Given the description of an element on the screen output the (x, y) to click on. 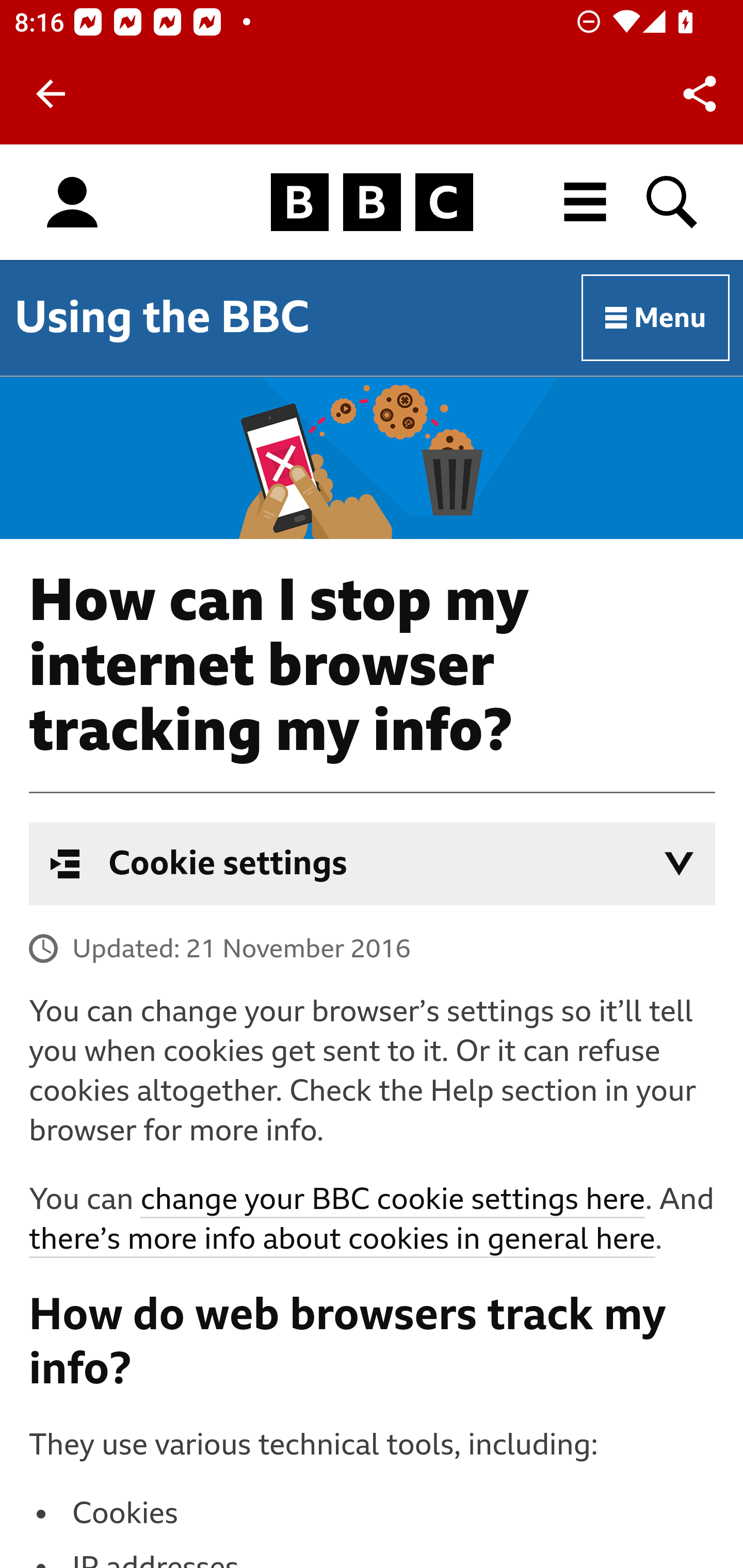
Back (50, 93)
Share (699, 93)
All BBC destinations menu (585, 202)
Search BBC (672, 202)
Sign in (71, 203)
Homepage (371, 203)
Menu (656, 318)
Using the BBC (162, 317)
Open in-page navigation (679, 863)
change your BBC cookie settings here (392, 1200)
there’s more info about cookies in general here (341, 1239)
